Given the description of an element on the screen output the (x, y) to click on. 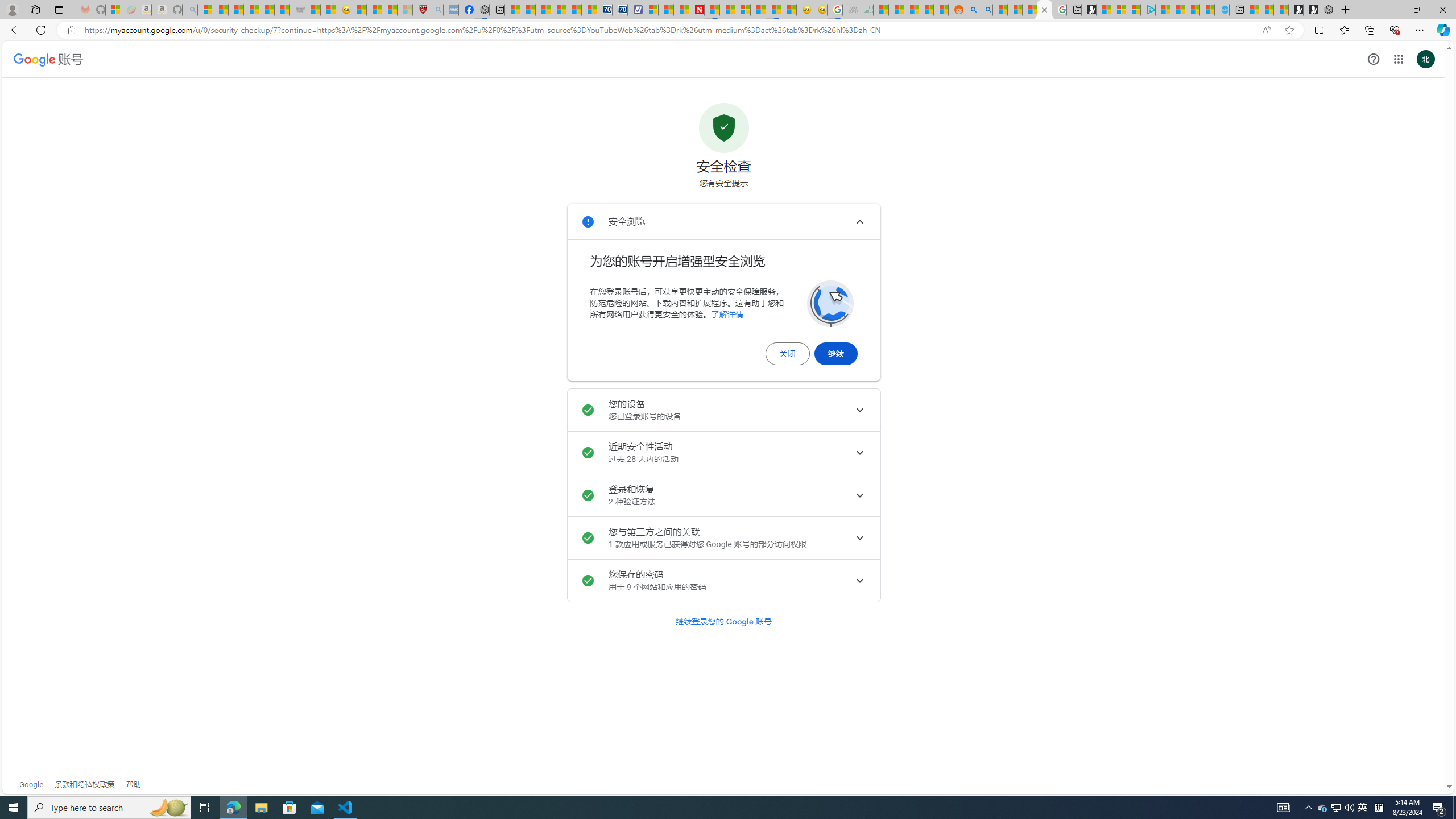
12 Popular Science Lies that Must be Corrected - Sleeping (405, 9)
